Given the description of an element on the screen output the (x, y) to click on. 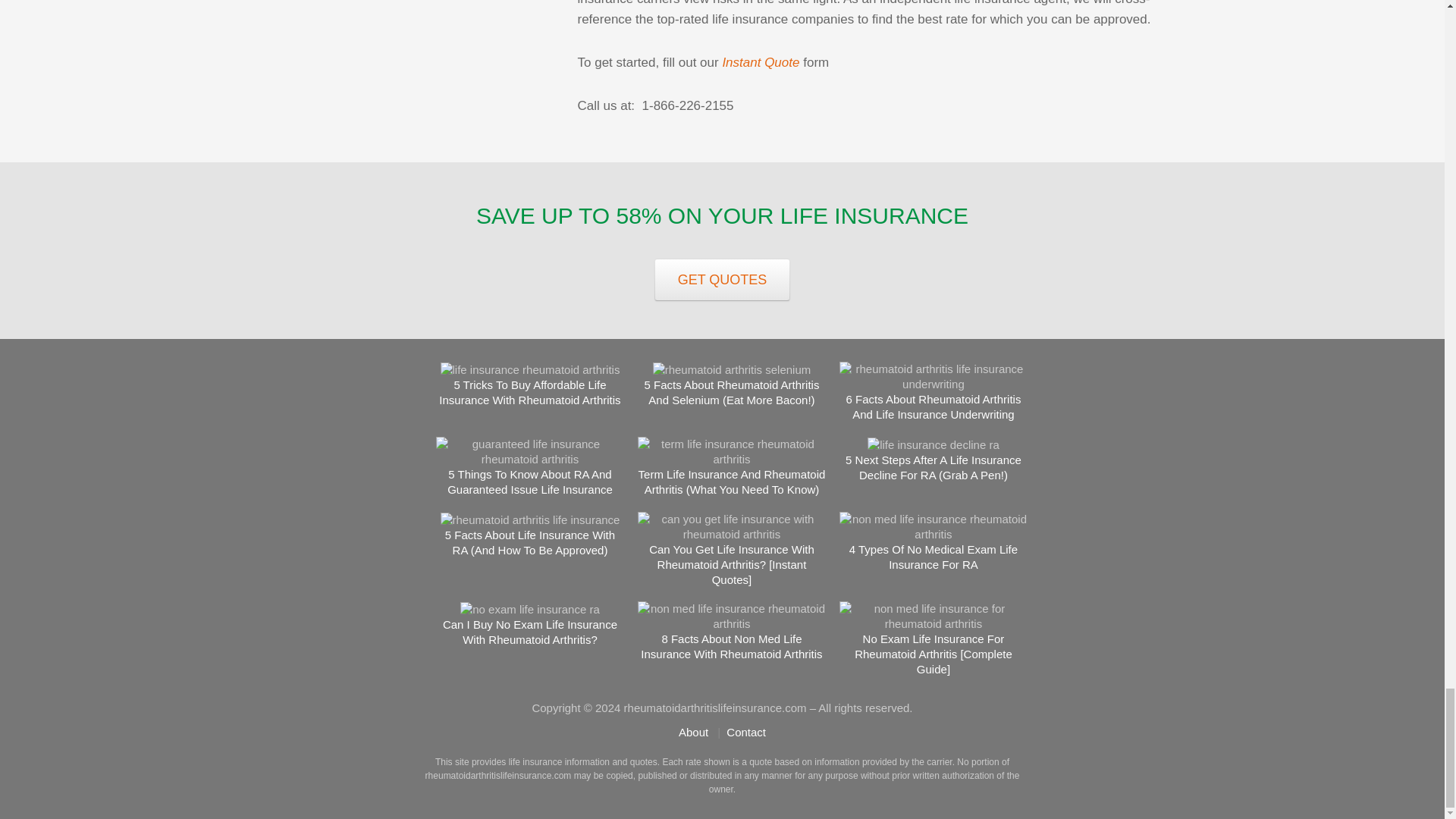
About (692, 731)
GET QUOTES (721, 279)
Contact (745, 731)
4 Types Of No Medical Exam Life Insurance For RA (932, 556)
Instant Quote (760, 62)
Can I Buy No Exam Life Insurance With Rheumatoid Arthritis? (529, 632)
